Given the description of an element on the screen output the (x, y) to click on. 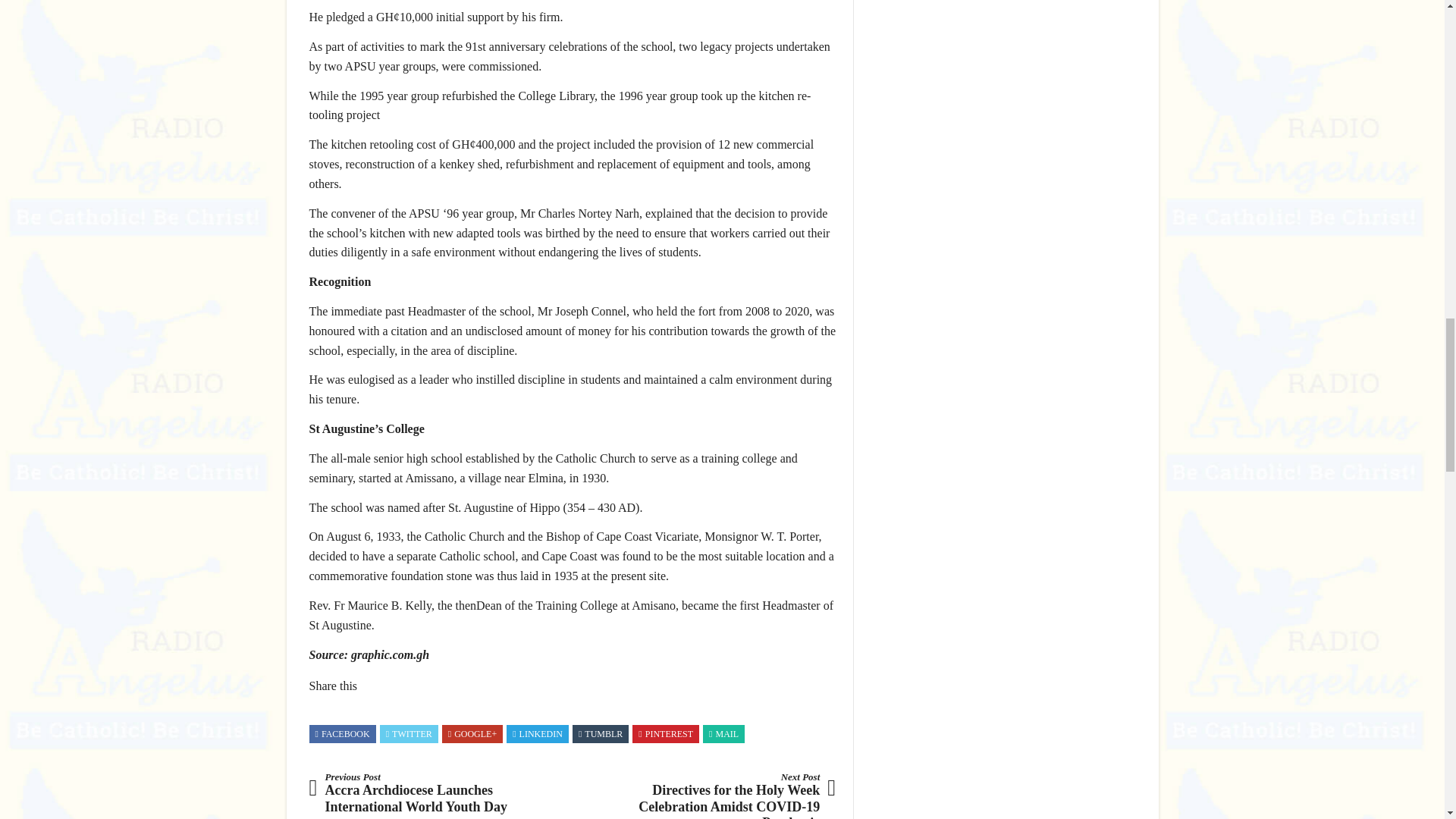
LinkedIn (537, 733)
Facebook (342, 733)
Google Plus (472, 733)
Pinterest (666, 733)
Twitter (408, 733)
Tumblr (600, 733)
Mail (723, 733)
